Given the description of an element on the screen output the (x, y) to click on. 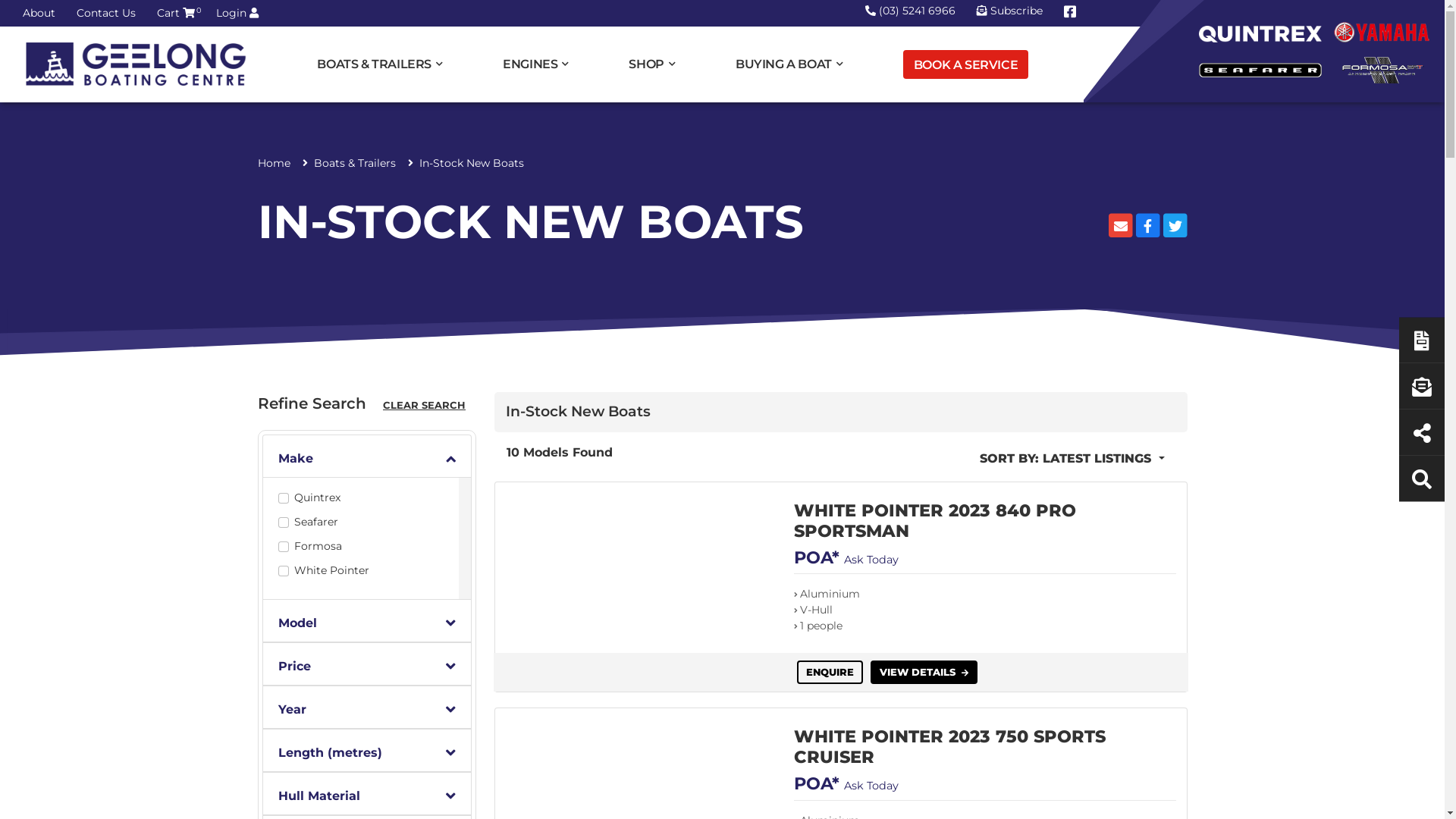
(03) 5241 6966 Element type: text (911, 10)
Subscribe Element type: text (1009, 10)
SORT BY: LATEST LISTINGS Element type: text (1071, 458)
Model Element type: text (366, 620)
Aluminium
V-Hull
1 people Element type: text (984, 616)
Contact Us Element type: text (105, 12)
BOATS & TRAILERS Element type: text (381, 64)
CLEAR SEARCH Element type: text (424, 405)
BUYING A BOAT Element type: text (791, 64)
SHOP Element type: text (654, 64)
WHITE POINTER 2023 750 SPORTS CRUISER
POA* Ask Today Element type: text (984, 763)
Price Element type: text (366, 664)
Login Element type: text (237, 12)
WHITE POINTER 2023 840 PRO SPORTSMAN
POA* Ask Today Element type: text (984, 537)
Year Element type: text (366, 707)
BOOK A SERVICE Element type: text (965, 64)
Length (metres) Element type: text (366, 750)
VIEW DETAILS Element type: text (923, 672)
About Element type: text (38, 12)
Make Element type: text (366, 456)
Home Element type: text (273, 162)
Hull Material Element type: text (366, 793)
ENGINES Element type: text (538, 64)
Cart
0 Element type: text (175, 12)
ENQUIRE Element type: text (829, 672)
